Given the description of an element on the screen output the (x, y) to click on. 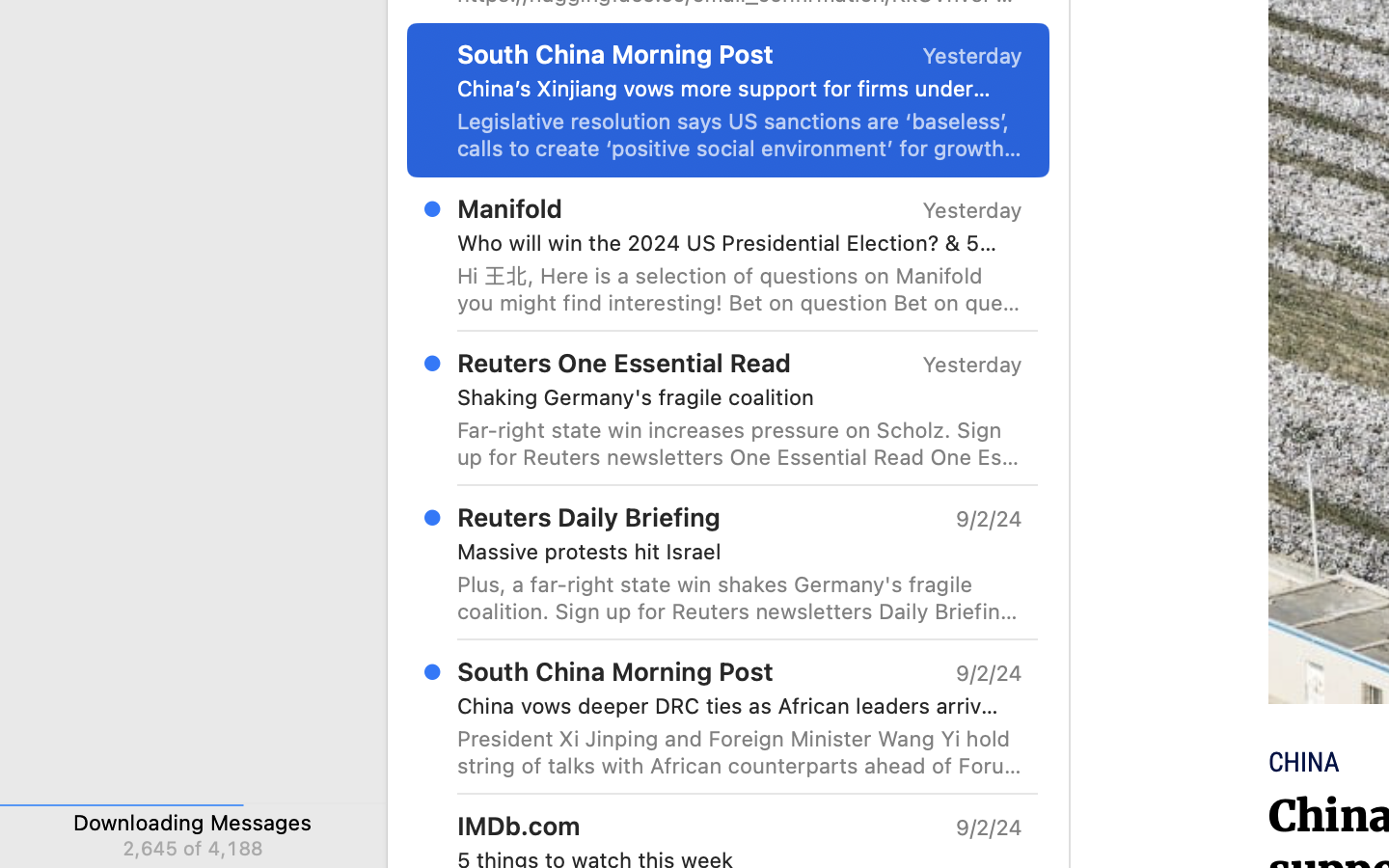
2,645 of 4,188 Element type: AXStaticText (191, 847)
President Xi Jinping and Foreign Minister Wang Yi hold string of talks with African counterparts ahead of Forum on China-Africa ... - South China Morning Post, SCMP, SCMP Today: Intl Edition - President Xi Jinping and Foreign Minister Wang Yi hold string of talks with African counterparts ahead of Forum on China-Africa ... Monday 2nd September, 2024 China politics & diplomacy ChinaChina vows deeper DRC ties as African leaders arrive for FOCAC meetings2 Sep, 2024 - 05:13 pmPresident Xi Jinping and Foreign Minister Wang Yi hold string of talks with African counterparts ahead of Forum on China-Africa Cooperation. EconomyChina moves to curb money worship, extravagance and excess in financial sector2 Sep, 2024 - 04:04 pm EconomyChina’s yuan to continue to gain, but outlook hinges on Fed rate cuts: analysts2 Sep, 2024 - 05:42 pm Featured Podcast3. Millennials, GenZ and hire education Video Of The Day Hong Kong’s youngest Paralympic medallist Jasmine Ng clinches swimming bronze at age 14OPINI Element type: AXStaticText (739, 752)
South China Morning Post Element type: AXStaticText (615, 670)
Shaking Germany's fragile coalition Element type: AXStaticText (731, 396)
Who will win the 2024 US Presidential Election? & 5 more interesting markets on Manifold Element type: AXStaticText (731, 242)
